Given the description of an element on the screen output the (x, y) to click on. 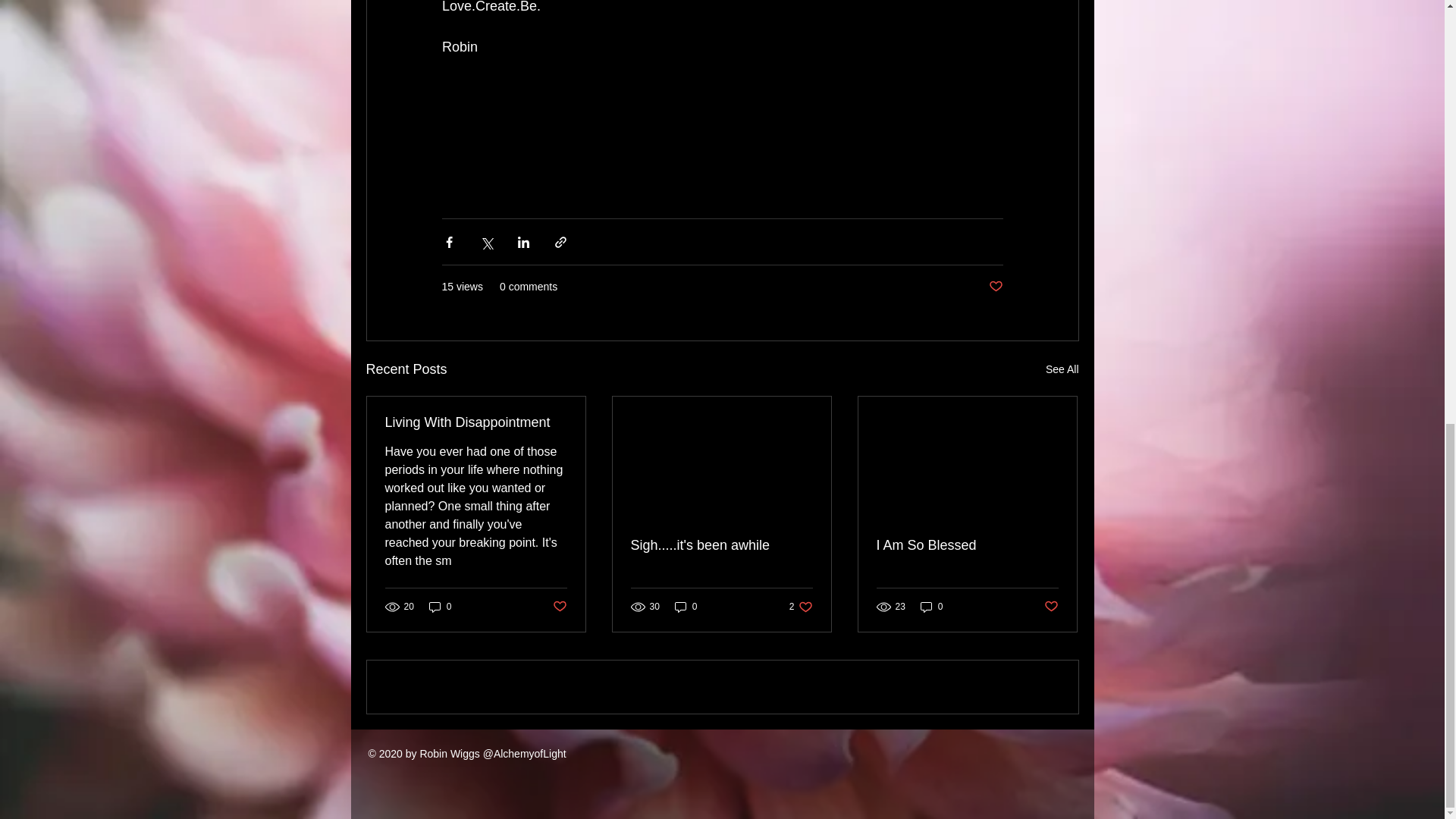
Post not marked as liked (558, 606)
See All (1061, 369)
Sigh.....it's been awhile (721, 545)
0 (440, 605)
I Am So Blessed (967, 545)
Post not marked as liked (1050, 606)
Living With Disappointment (476, 422)
0 (931, 605)
0 (685, 605)
Post not marked as liked (995, 286)
